Given the description of an element on the screen output the (x, y) to click on. 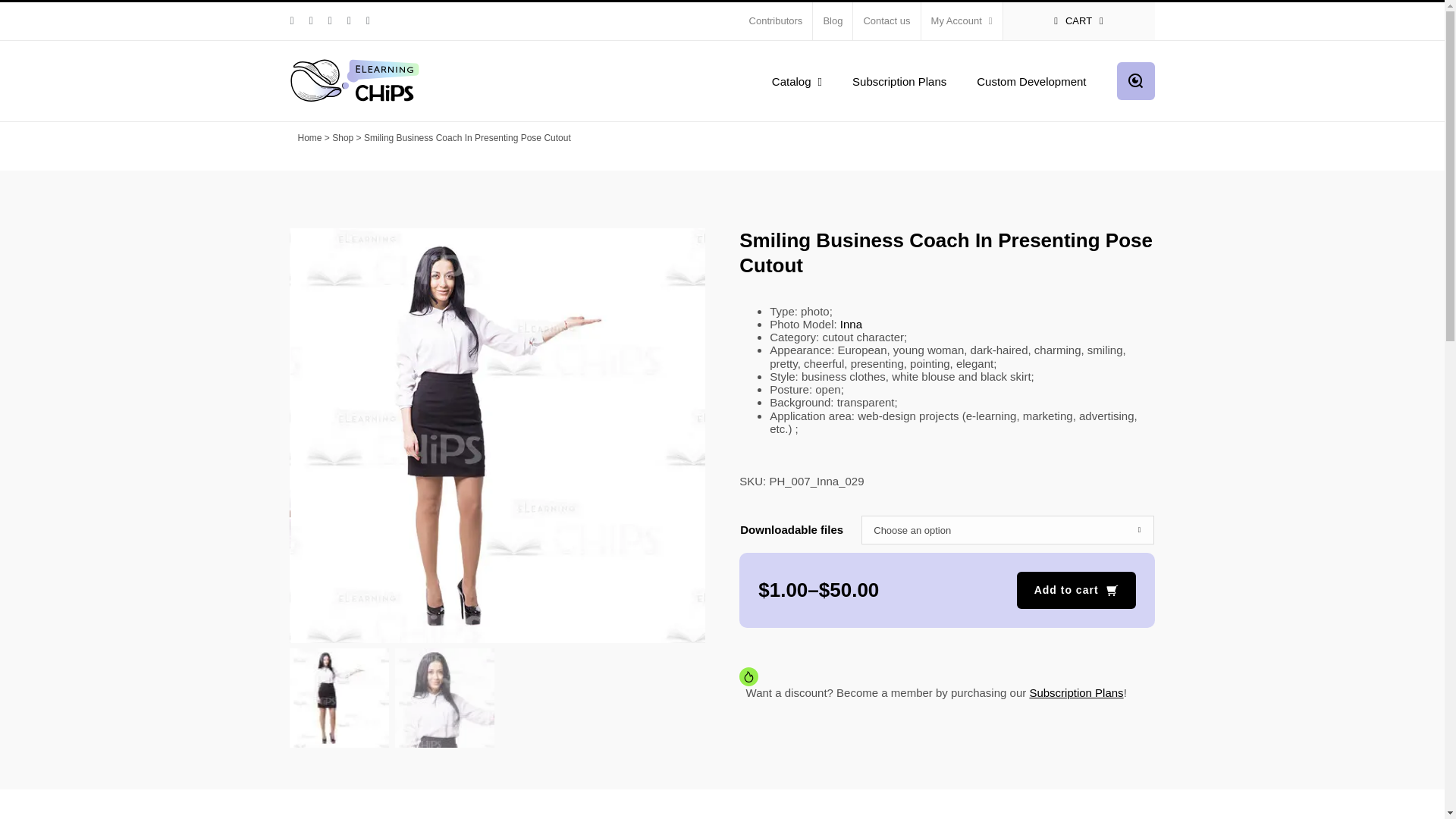
Log In (1025, 165)
Contact us (886, 21)
Custom Development (1031, 79)
Search (1135, 80)
Blog (831, 21)
Subscription Plans (898, 79)
Contributors (775, 21)
CART (1078, 21)
My Account (962, 21)
